Given the description of an element on the screen output the (x, y) to click on. 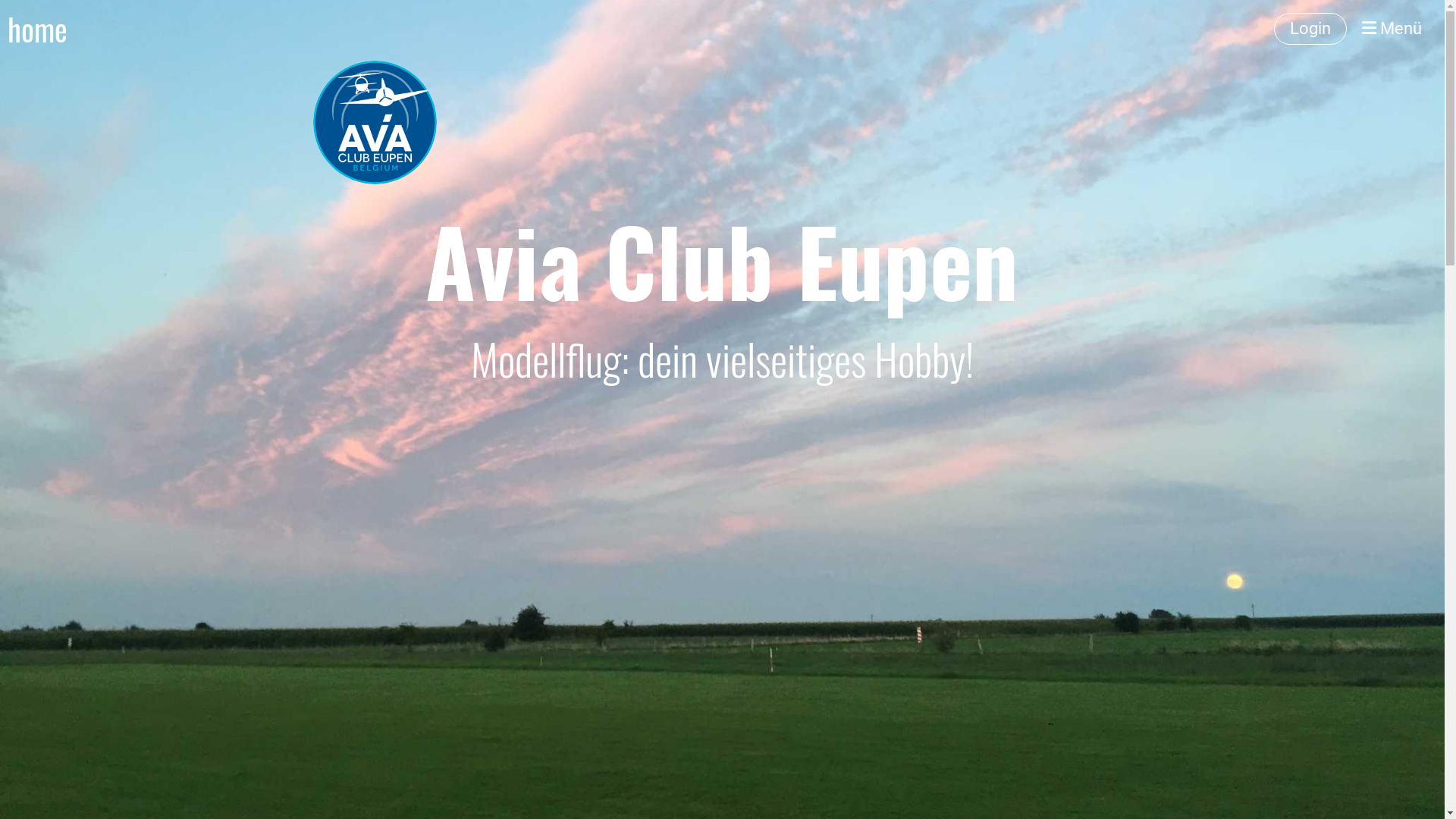
Login Element type: text (1310, 28)
home Element type: text (37, 28)
